Given the description of an element on the screen output the (x, y) to click on. 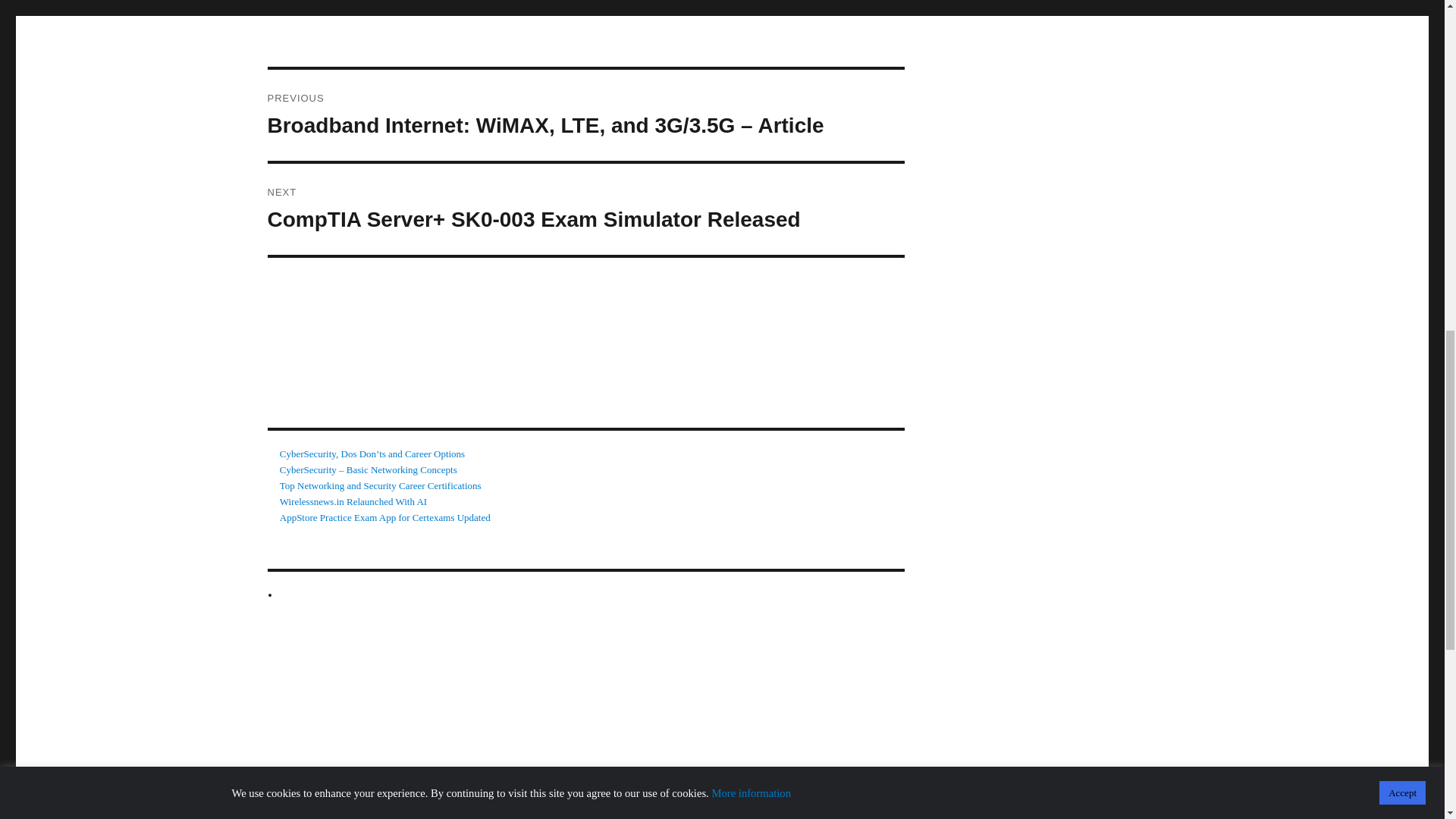
Advertisement (721, 758)
Wirelessnews.in Relaunched With AI (352, 501)
Top Networking and Security Career Certifications (380, 485)
AppStore Practice Exam App for Certexams Updated (384, 517)
